Given the description of an element on the screen output the (x, y) to click on. 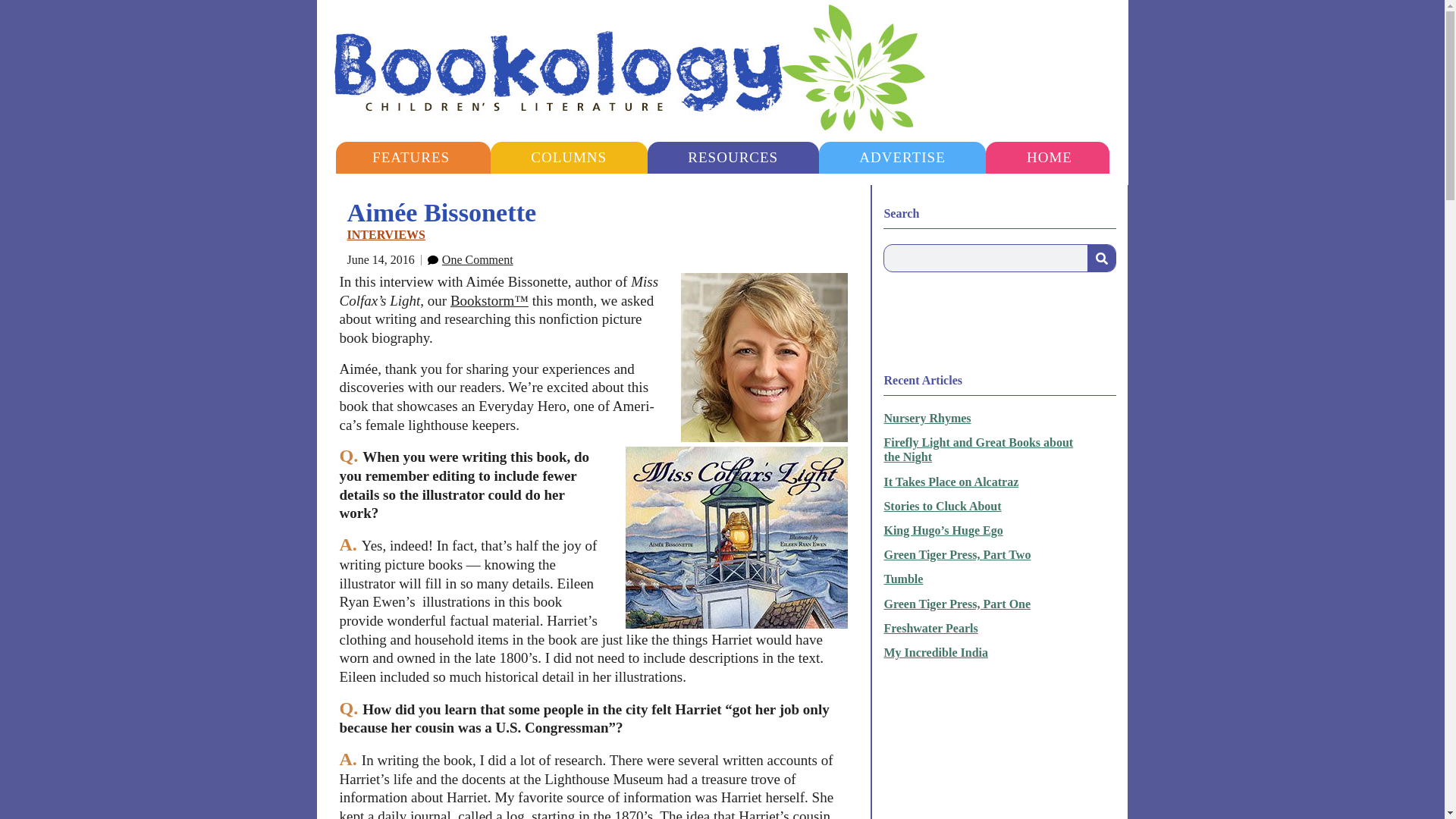
RESOURCES (732, 157)
FEATURES (410, 157)
ADVERTISE (902, 157)
COLUMNS (569, 157)
HOME (1049, 157)
